Given the description of an element on the screen output the (x, y) to click on. 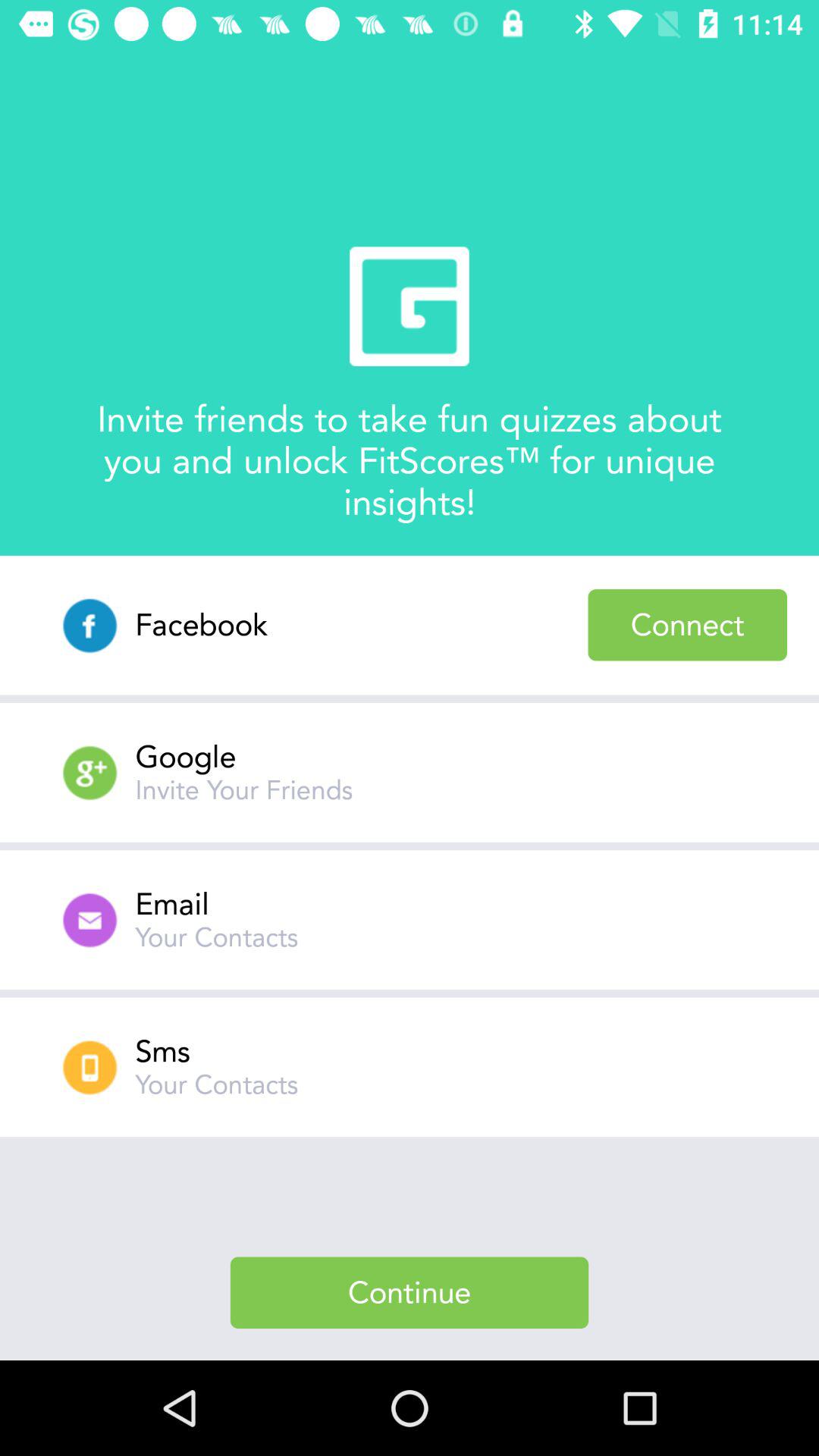
scroll to continue (409, 1292)
